Given the description of an element on the screen output the (x, y) to click on. 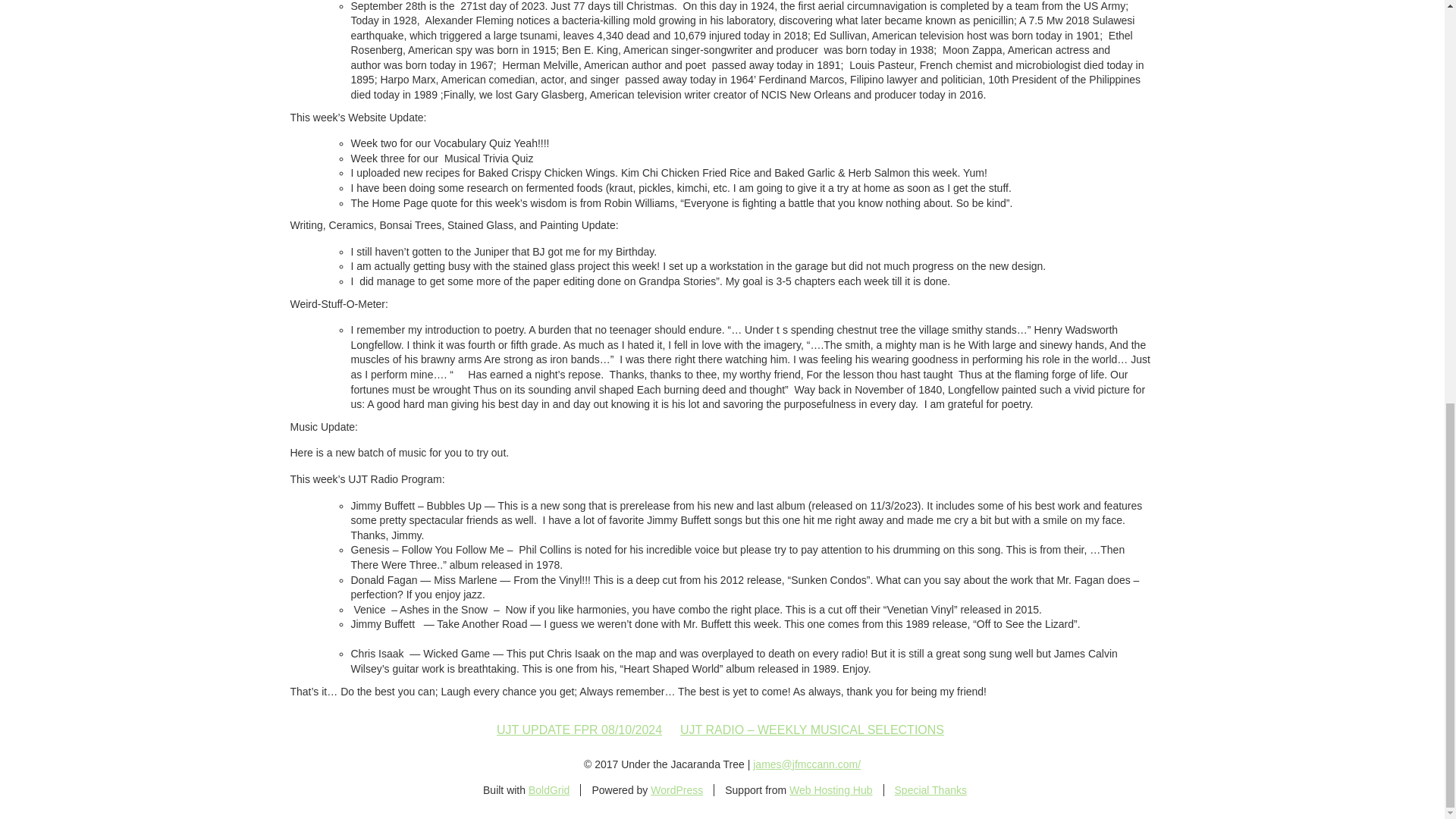
WordPress (676, 789)
BoldGrid (548, 789)
Special Thanks (930, 789)
Web Hosting Hub (830, 789)
